Given the description of an element on the screen output the (x, y) to click on. 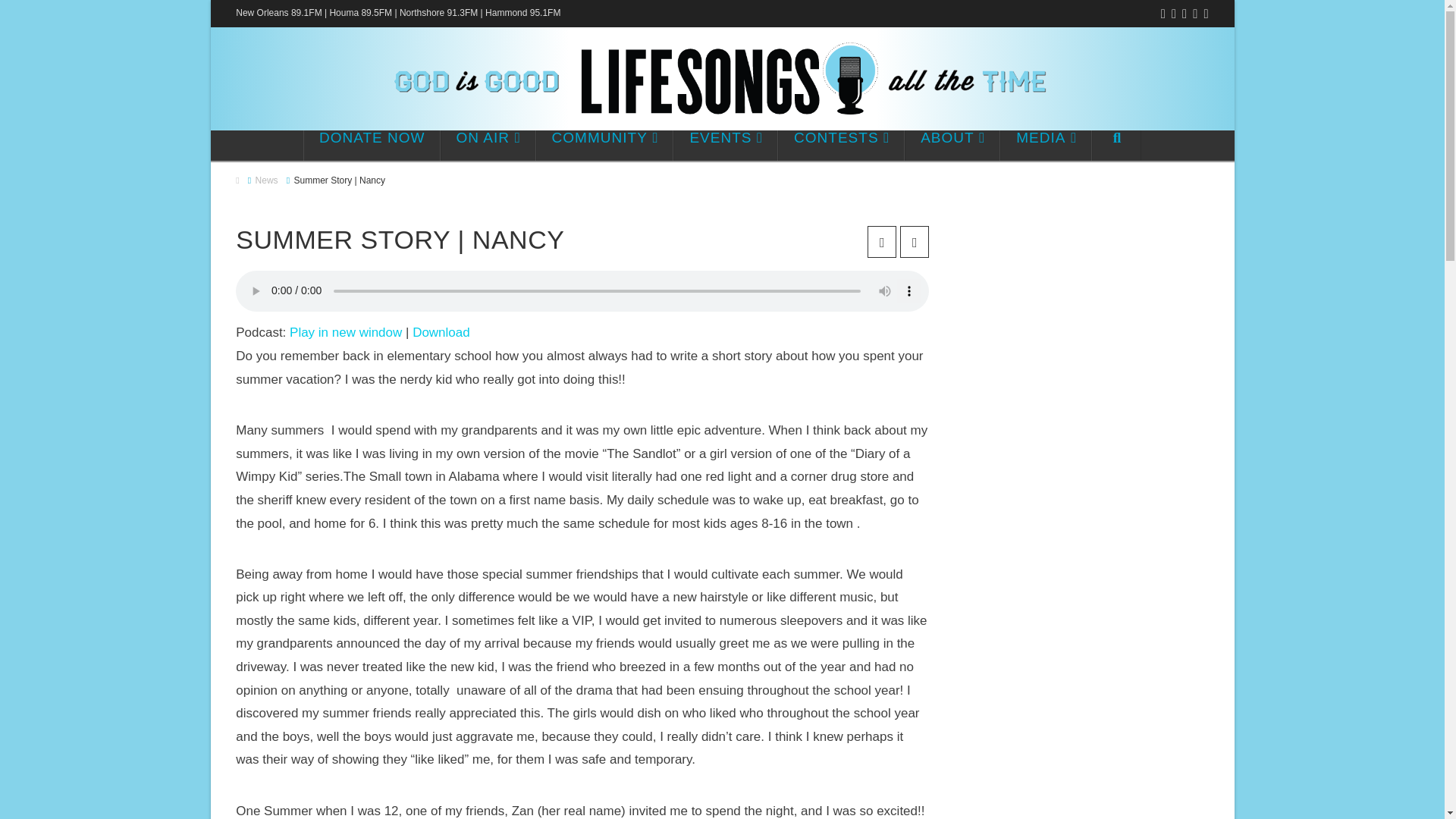
EVENTS (724, 145)
DONATE NOW (371, 145)
ON AIR (488, 145)
You Are Here (339, 180)
Play in new window (345, 332)
COMMUNITY (604, 145)
ABOUT (952, 145)
MEDIA (1046, 145)
Download (441, 332)
CONTESTS (840, 145)
